Given the description of an element on the screen output the (x, y) to click on. 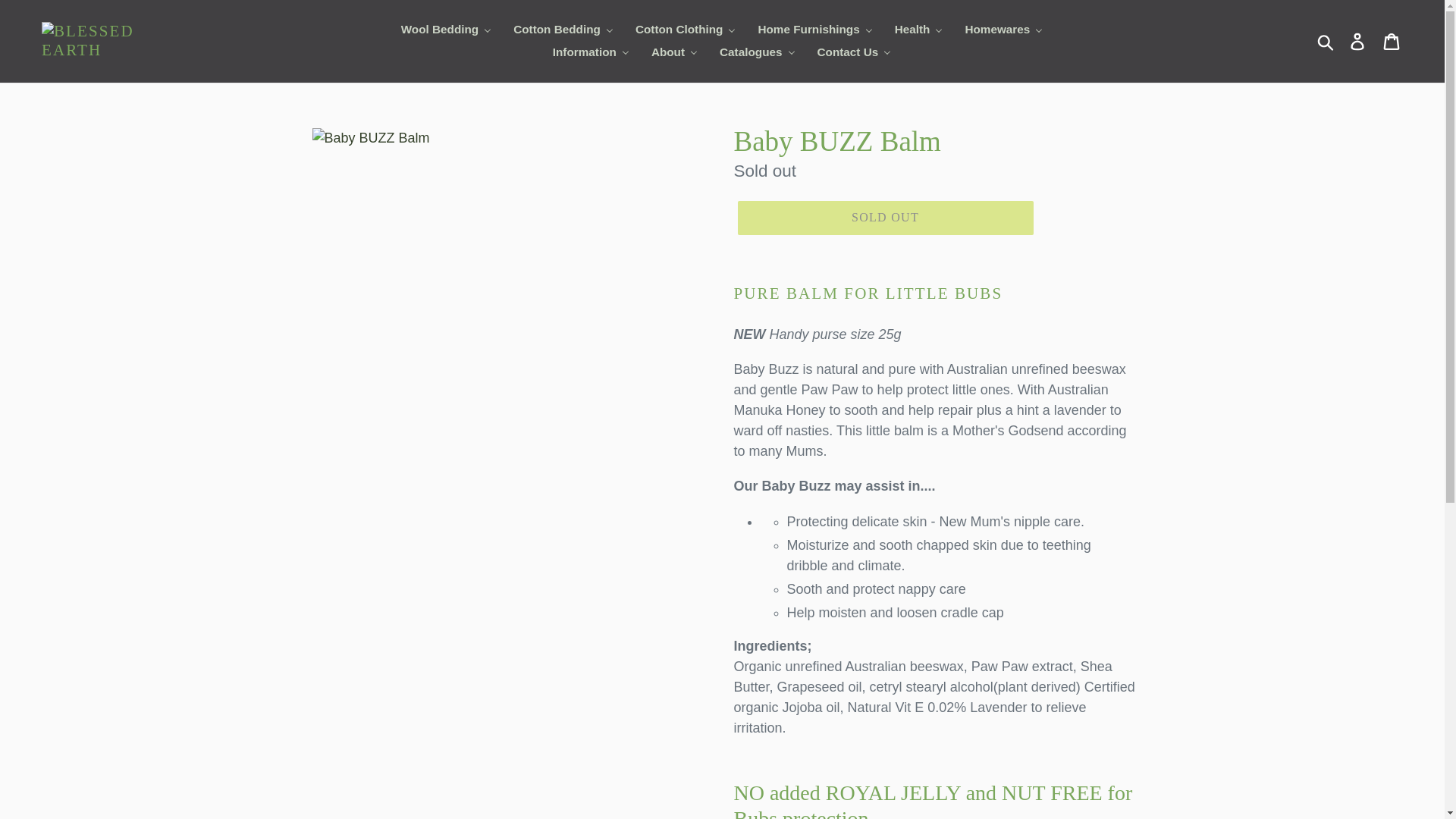
Cotton Clothing (686, 29)
Home Furnishings (814, 29)
Wool Bedding (446, 29)
Cotton Bedding (563, 29)
Health (919, 29)
